Given the description of an element on the screen output the (x, y) to click on. 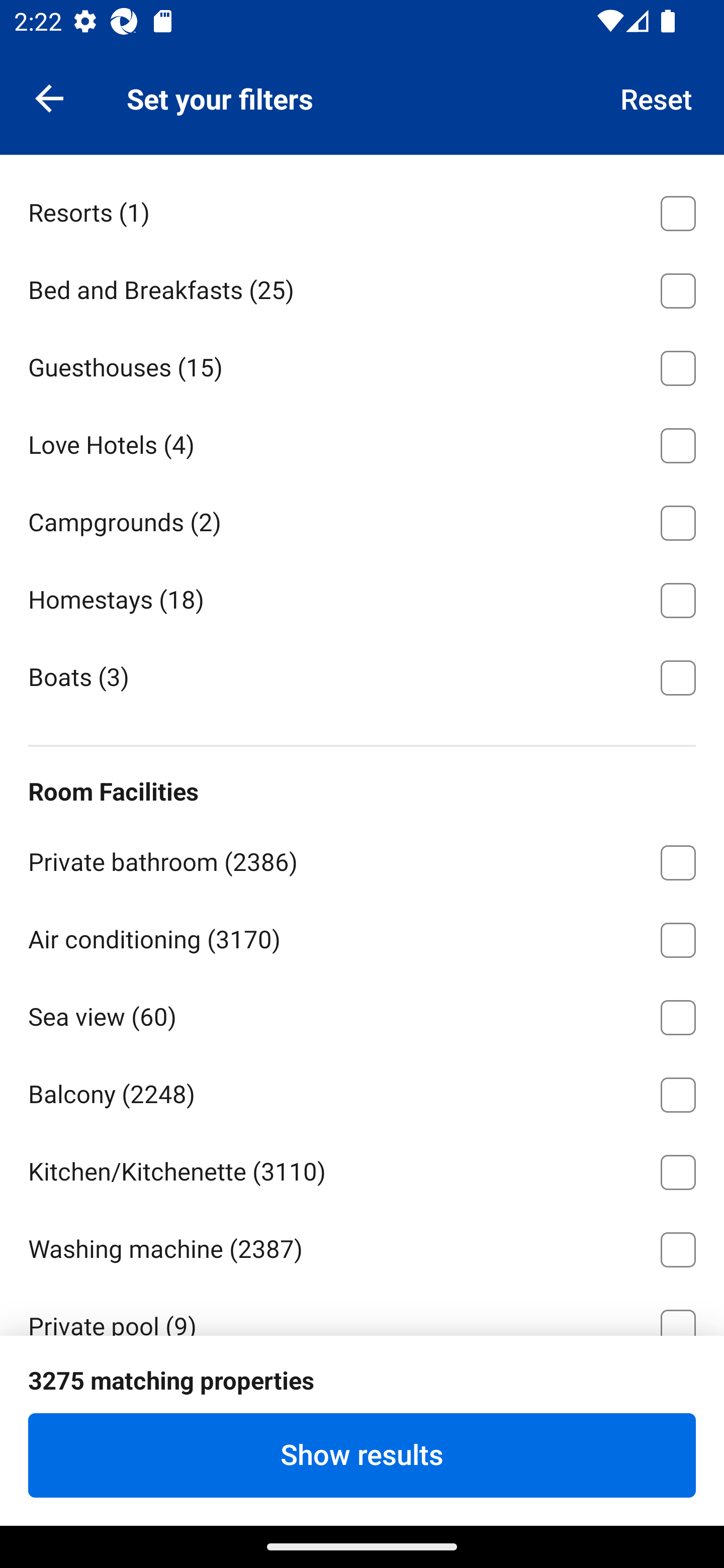
Navigate up (49, 97)
Reset (656, 97)
Resorts ⁦(1) (361, 209)
Bed and Breakfasts ⁦(25) (361, 287)
Guesthouses ⁦(15) (361, 364)
Love Hotels ⁦(4) (361, 441)
Campgrounds ⁦(2) (361, 519)
Homestays ⁦(18) (361, 596)
Boats ⁦(3) (361, 675)
Private bathroom ⁦(2386) (361, 859)
Air conditioning ⁦(3170) (361, 936)
Sea view ⁦(60) (361, 1013)
Balcony ⁦(2248) (361, 1091)
Kitchen/Kitchenette ⁦(3110) (361, 1168)
Washing machine ⁦(2387) (361, 1246)
Private pool ⁦(9) (361, 1310)
Terrace ⁦(902) (361, 1400)
Show results (361, 1454)
